Given the description of an element on the screen output the (x, y) to click on. 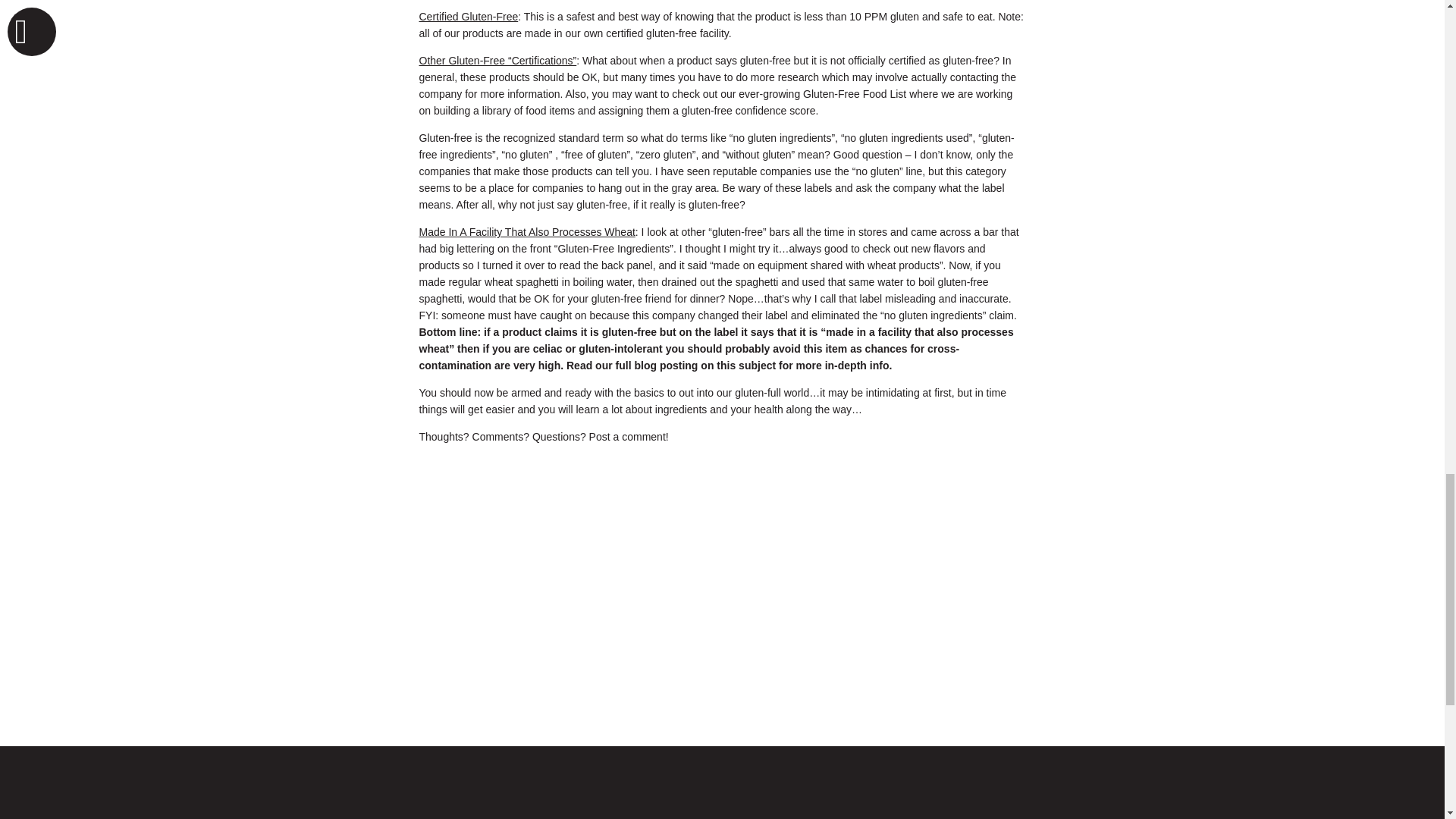
all of our products (460, 33)
Gluten-Free Food List (854, 93)
full blog posting (656, 365)
gluten-free food list (854, 93)
